Given the description of an element on the screen output the (x, y) to click on. 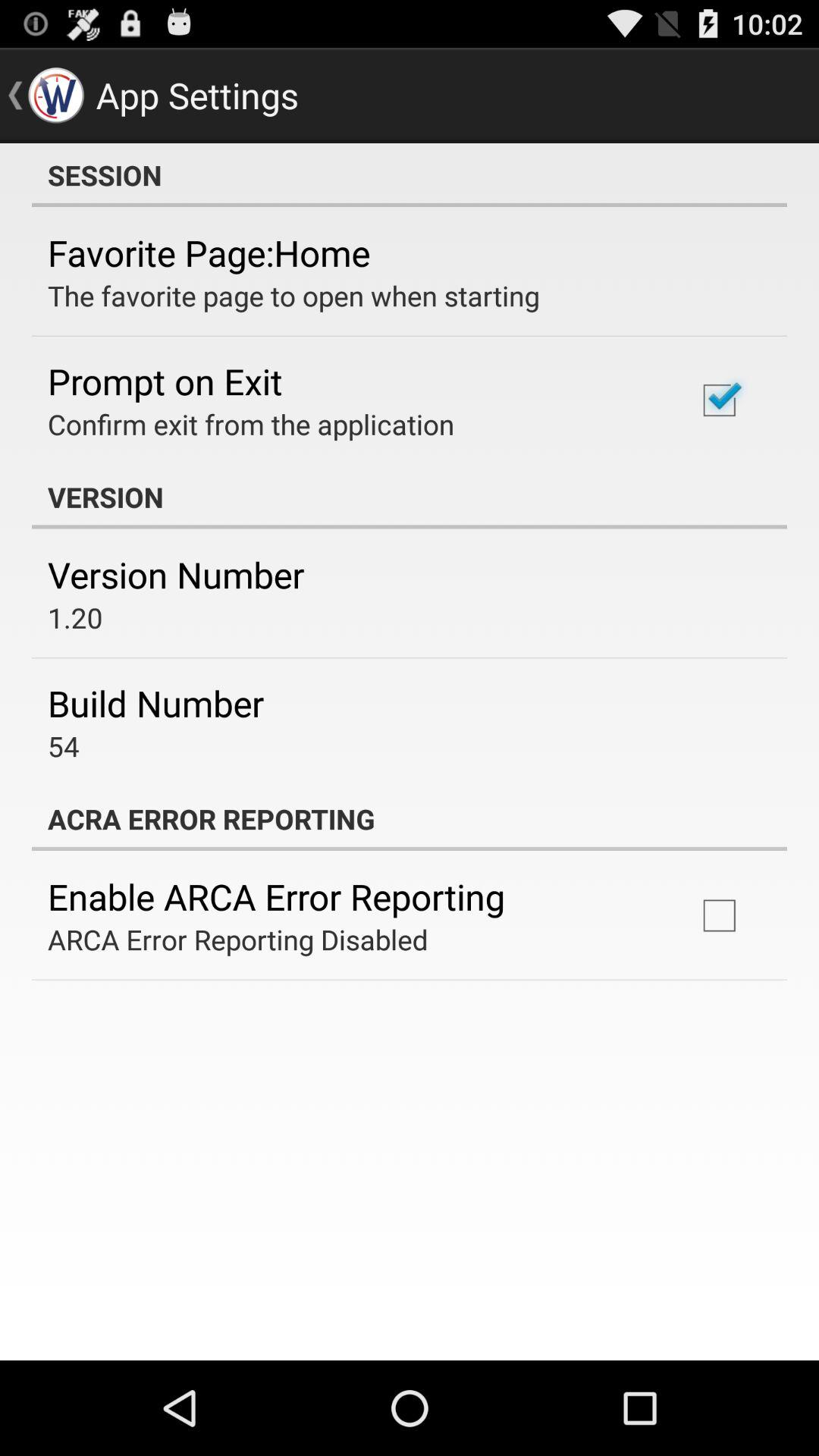
turn off icon below the the favorite page app (164, 381)
